Given the description of an element on the screen output the (x, y) to click on. 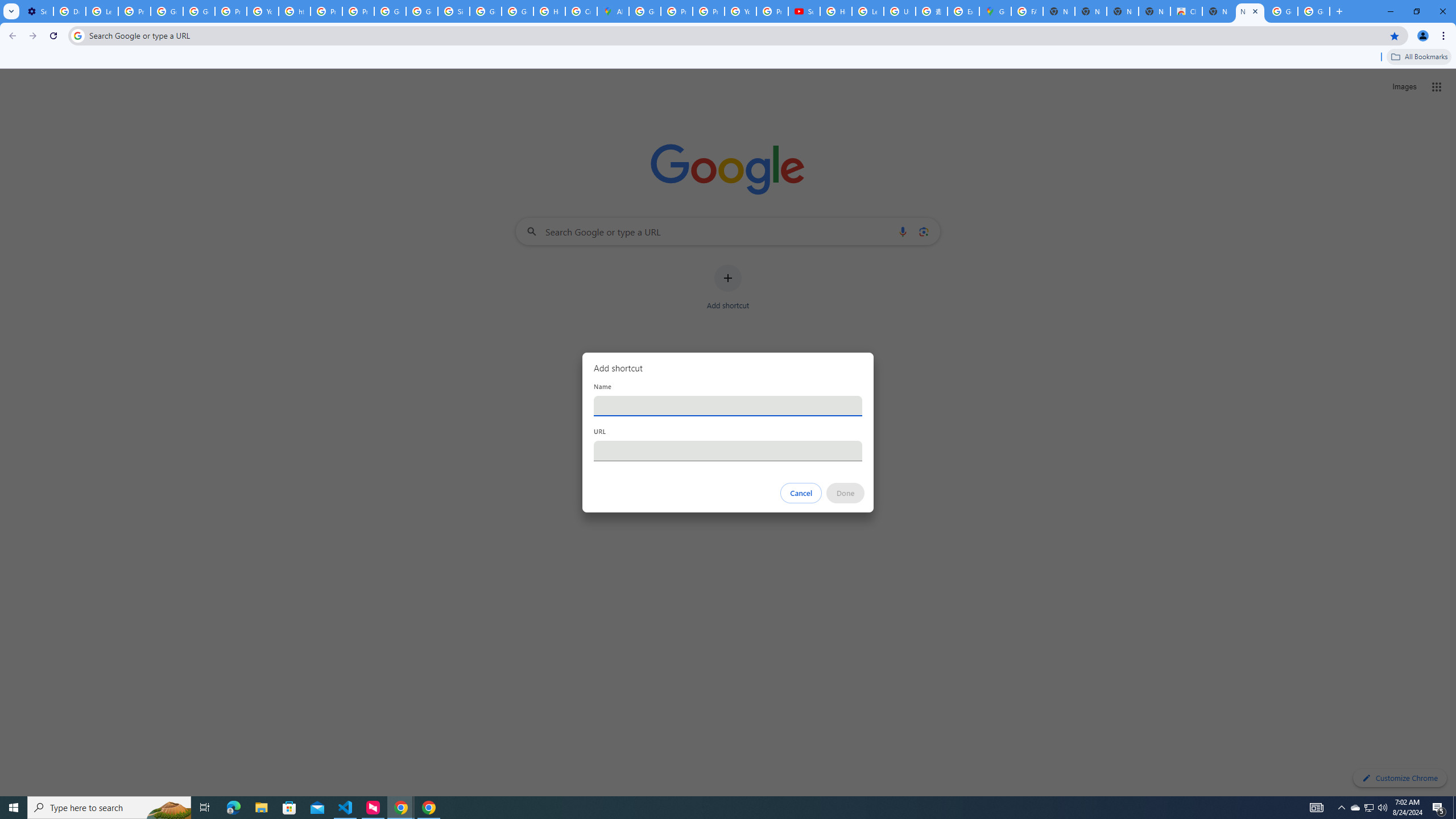
How Chrome protects your passwords - Google Chrome Help (836, 11)
YouTube (740, 11)
Bookmarks (728, 58)
Cancel (801, 493)
New Tab (1217, 11)
